Given the description of an element on the screen output the (x, y) to click on. 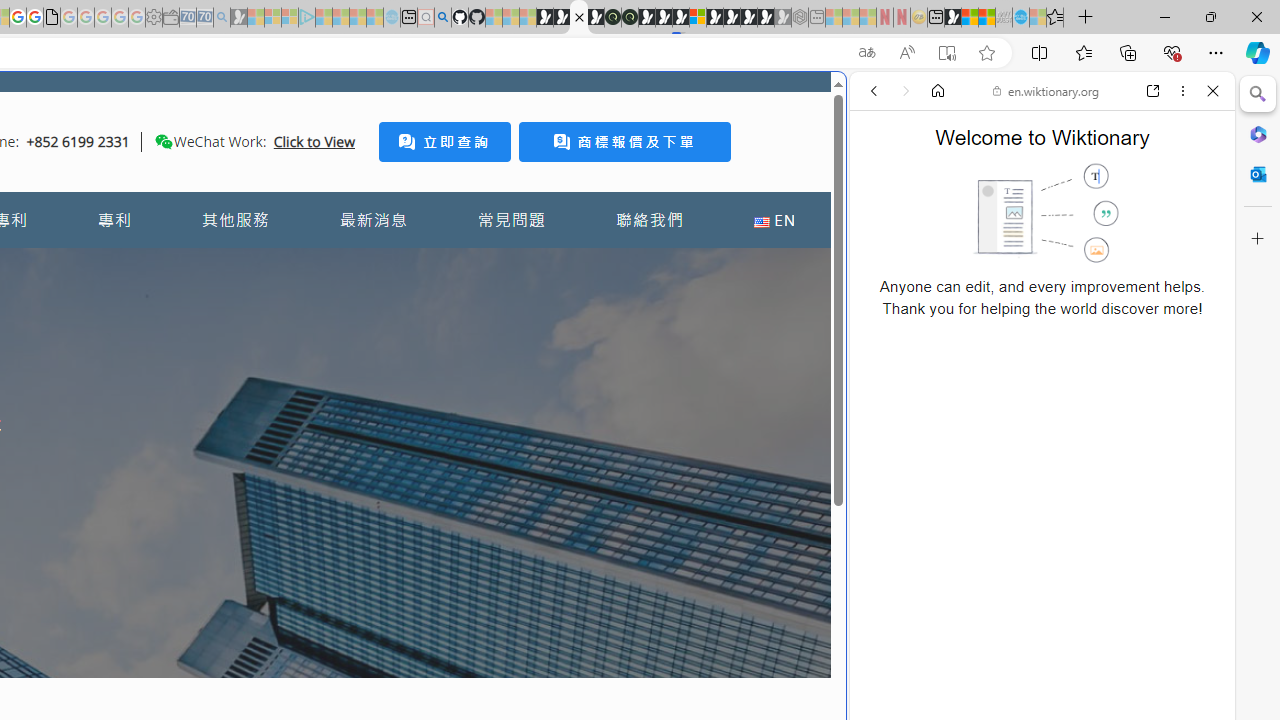
MSN (952, 17)
Search Filter, IMAGES (939, 228)
Open link in new tab (1153, 91)
WEB   (882, 228)
Tabs you've opened (276, 265)
Wiktionary (1034, 669)
